Given the description of an element on the screen output the (x, y) to click on. 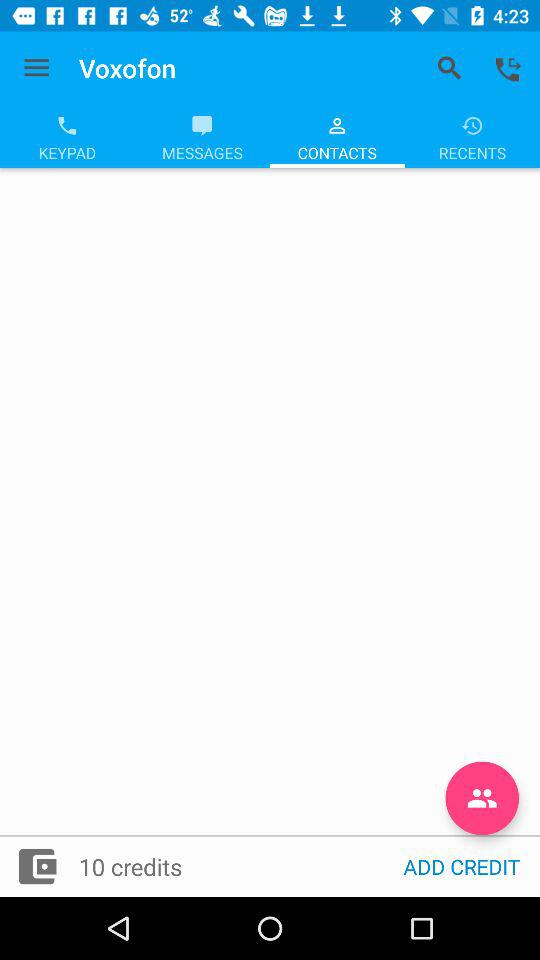
launch item to the left of voxofon icon (36, 68)
